Given the description of an element on the screen output the (x, y) to click on. 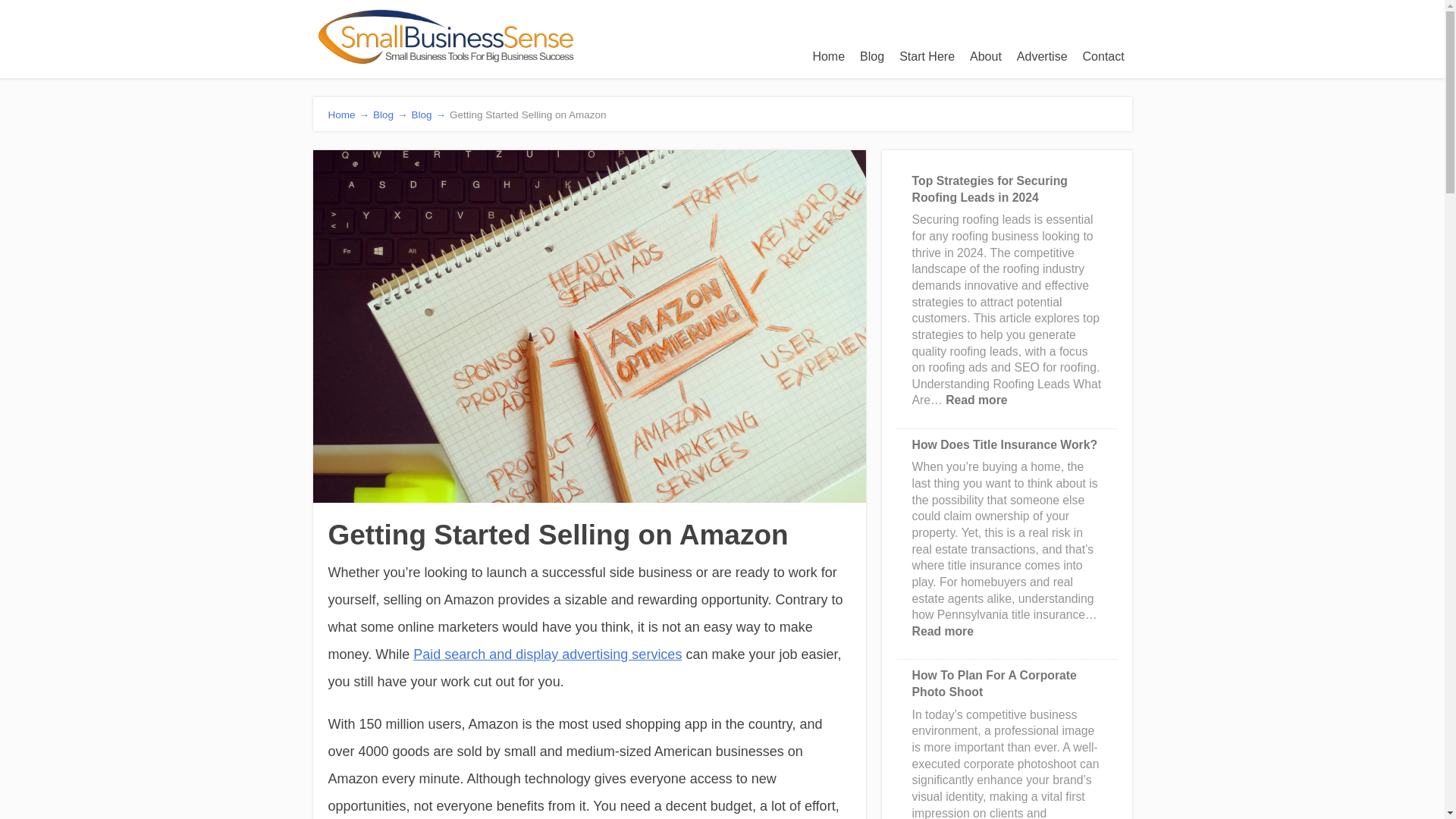
How Does Title Insurance Work? (943, 631)
Start Here (1004, 444)
Advertise (926, 56)
How To Plan For A Corporate Photo Shoot (1042, 56)
Top Strategies for Securing Roofing Leads in 2024 (994, 683)
Paid search and display advertising services (989, 188)
Home (547, 654)
Getting Started Selling on Amazon (828, 56)
